Given the description of an element on the screen output the (x, y) to click on. 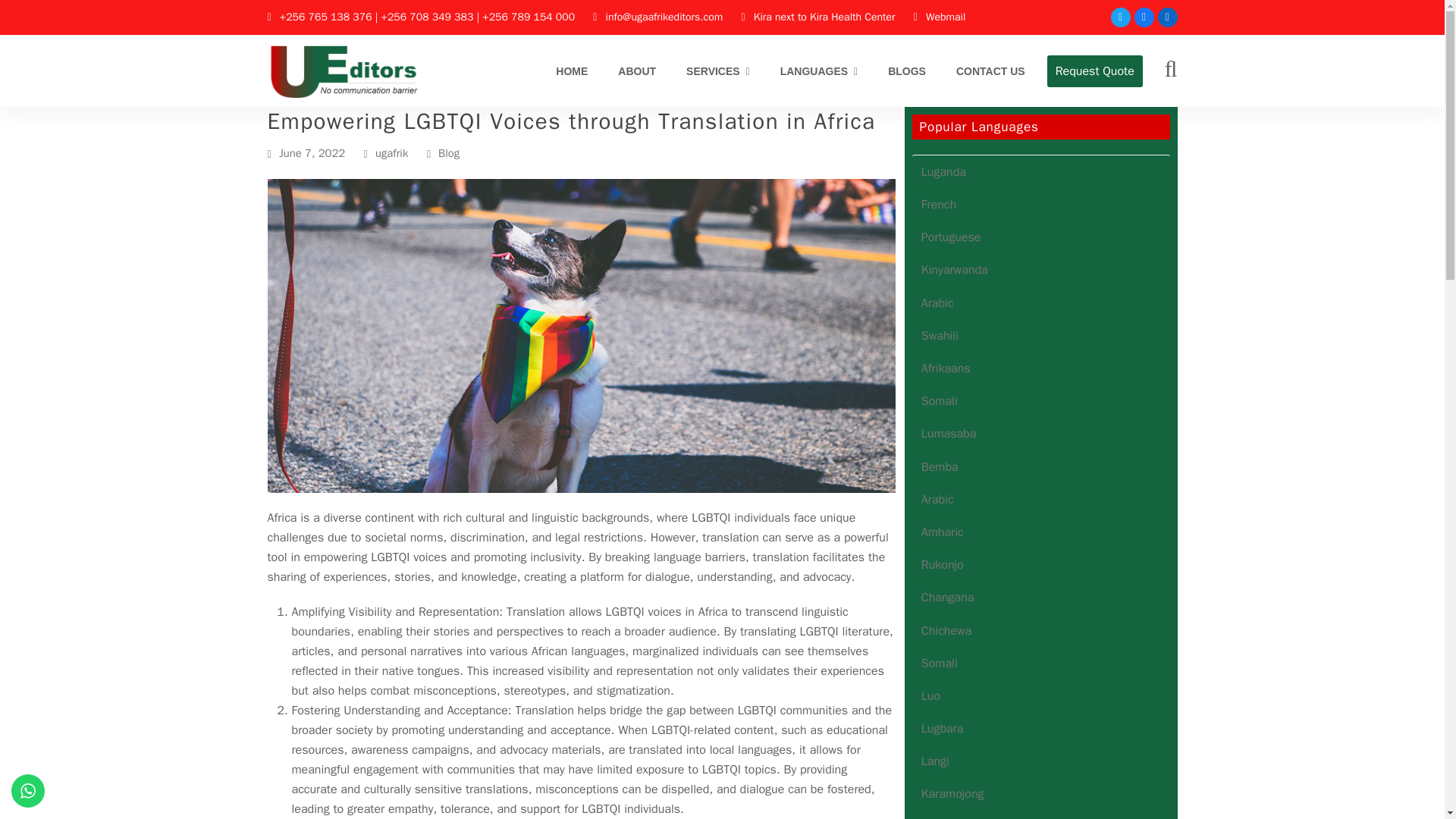
SERVICES (718, 71)
Facebook (1144, 17)
Twitter (1119, 17)
LinkedIn (1166, 17)
LANGUAGES (818, 71)
WhatsApp Us (28, 790)
HOME (571, 71)
Webmail (945, 16)
ABOUT (636, 71)
